Given the description of an element on the screen output the (x, y) to click on. 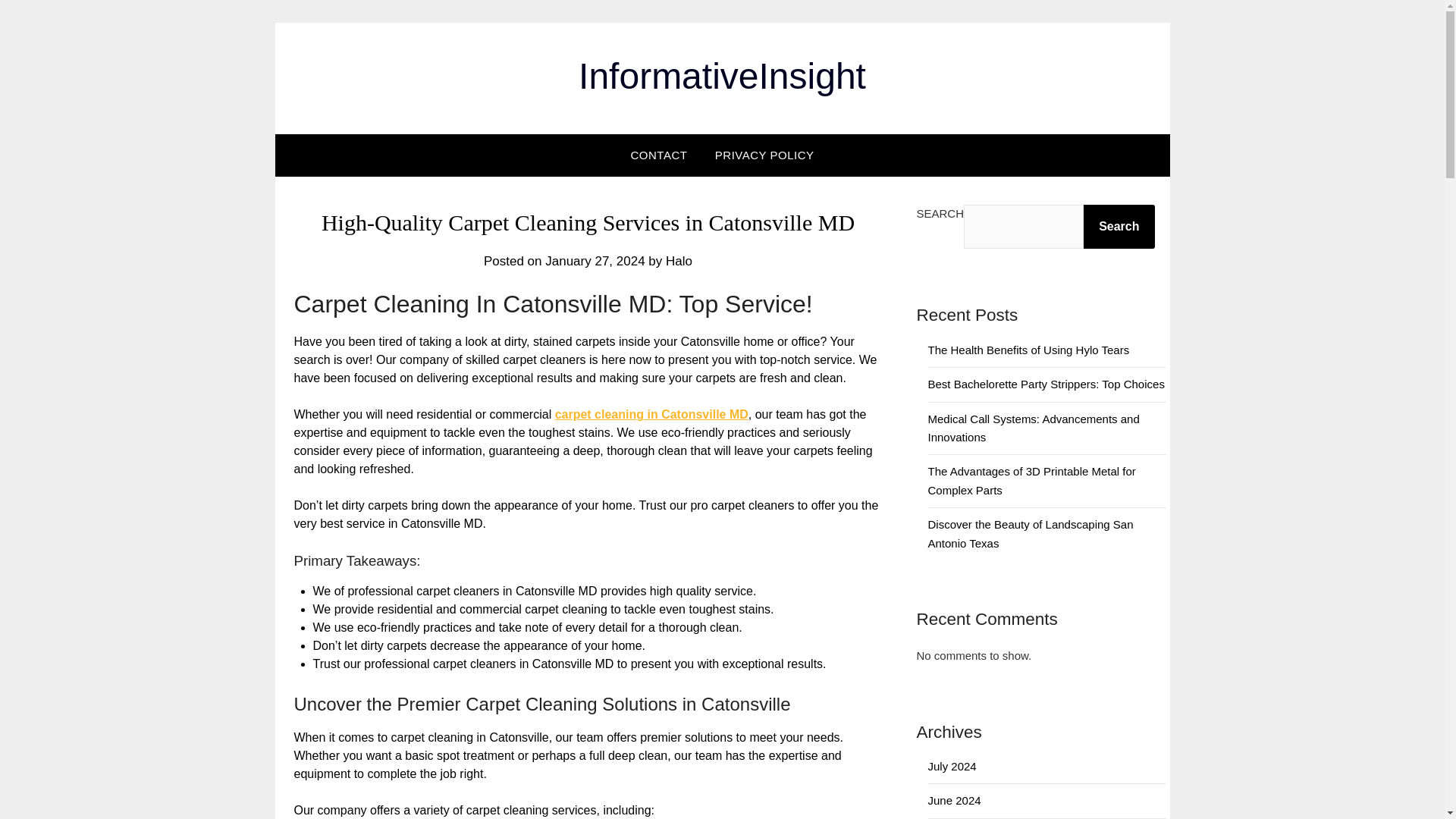
Discover the Beauty of Landscaping San Antonio Texas (1031, 532)
CONTACT (659, 155)
Medical Call Systems: Advancements and Innovations (1034, 427)
The Advantages of 3D Printable Metal for Complex Parts (1031, 480)
InformativeInsight (722, 76)
Search (1118, 226)
carpet cleaning in Catonsville MD (651, 413)
PRIVACY POLICY (765, 155)
The Health Benefits of Using Hylo Tears (1028, 349)
Best Bachelorette Party Strippers: Top Choices (1046, 383)
July 2024 (952, 766)
January 27, 2024 (594, 260)
Halo (679, 260)
June 2024 (954, 799)
